Given the description of an element on the screen output the (x, y) to click on. 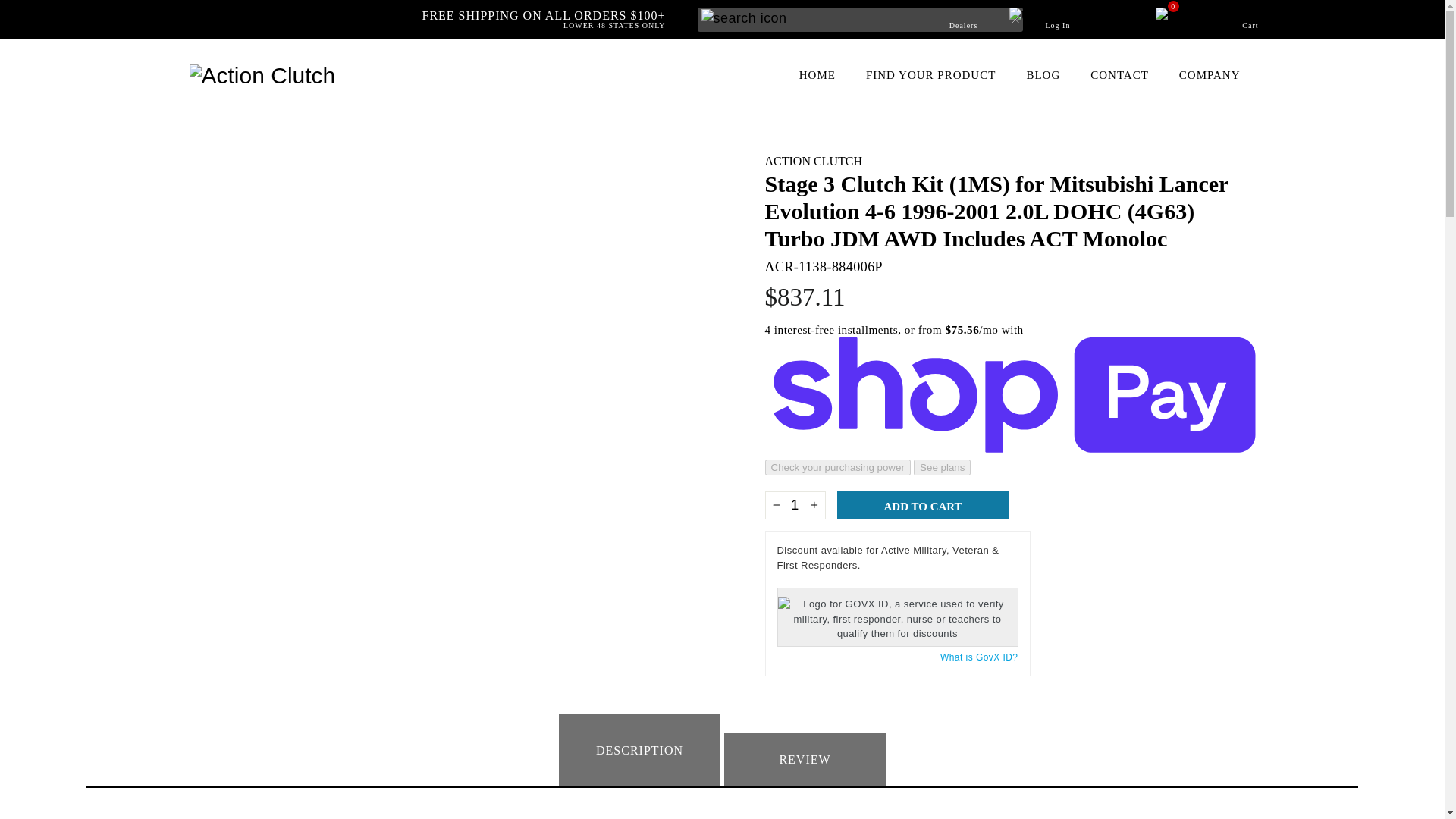
HOME (817, 75)
GovX ID Button (896, 617)
1 (794, 505)
Action Clutch (812, 160)
FIND YOUR PRODUCT (930, 75)
Dealers (1193, 19)
Log In (963, 19)
Skip to content (1058, 19)
